Given the description of an element on the screen output the (x, y) to click on. 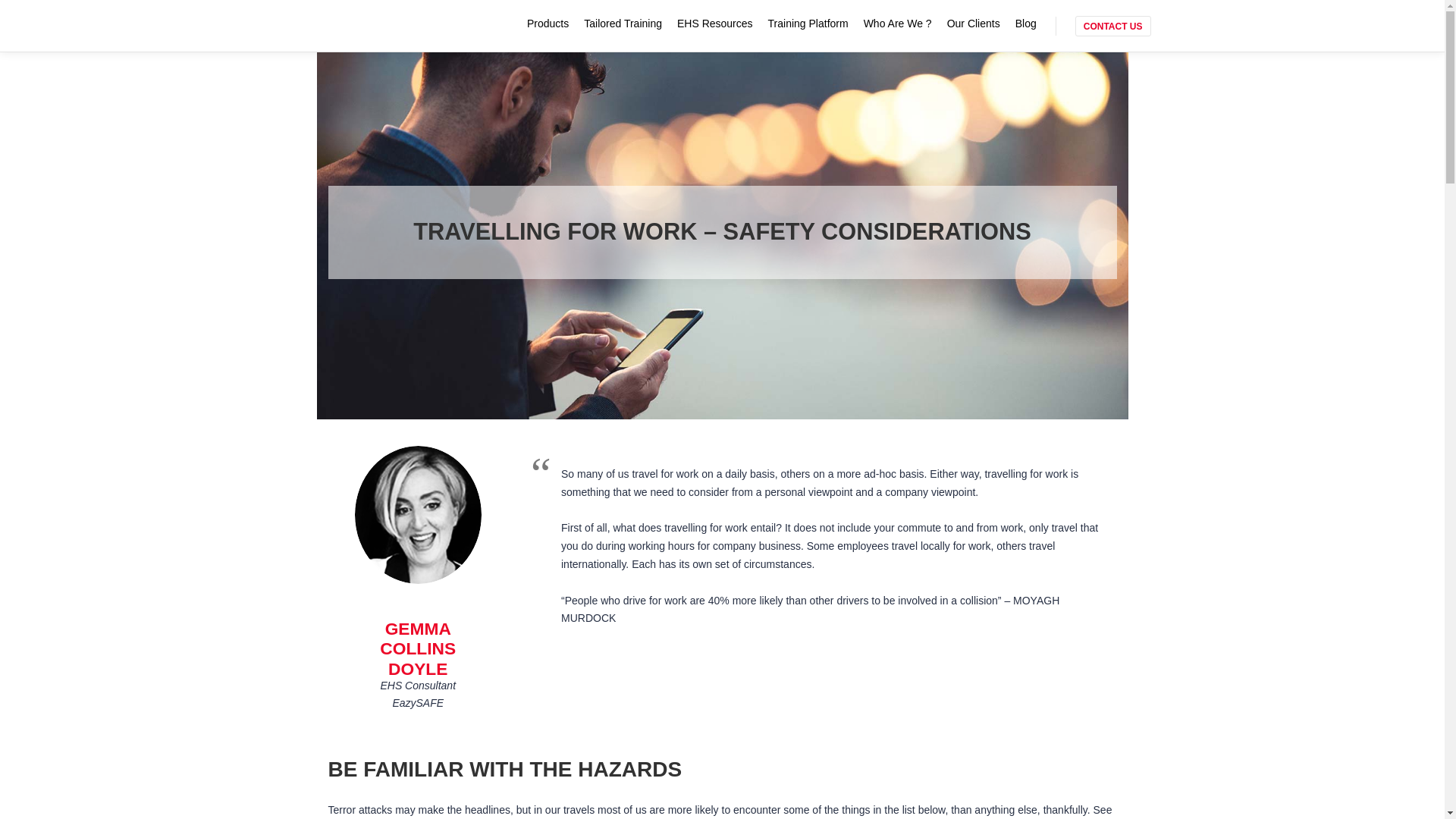
EHS Resources (714, 23)
CONTACT US (1113, 25)
Products (547, 23)
Who Are We ? (897, 23)
Our Clients (973, 23)
Gemma-Collins-Doyle (418, 514)
Blog (1025, 23)
Tailored Training (622, 23)
Training Platform (808, 23)
EazySAFE (357, 25)
